Given the description of an element on the screen output the (x, y) to click on. 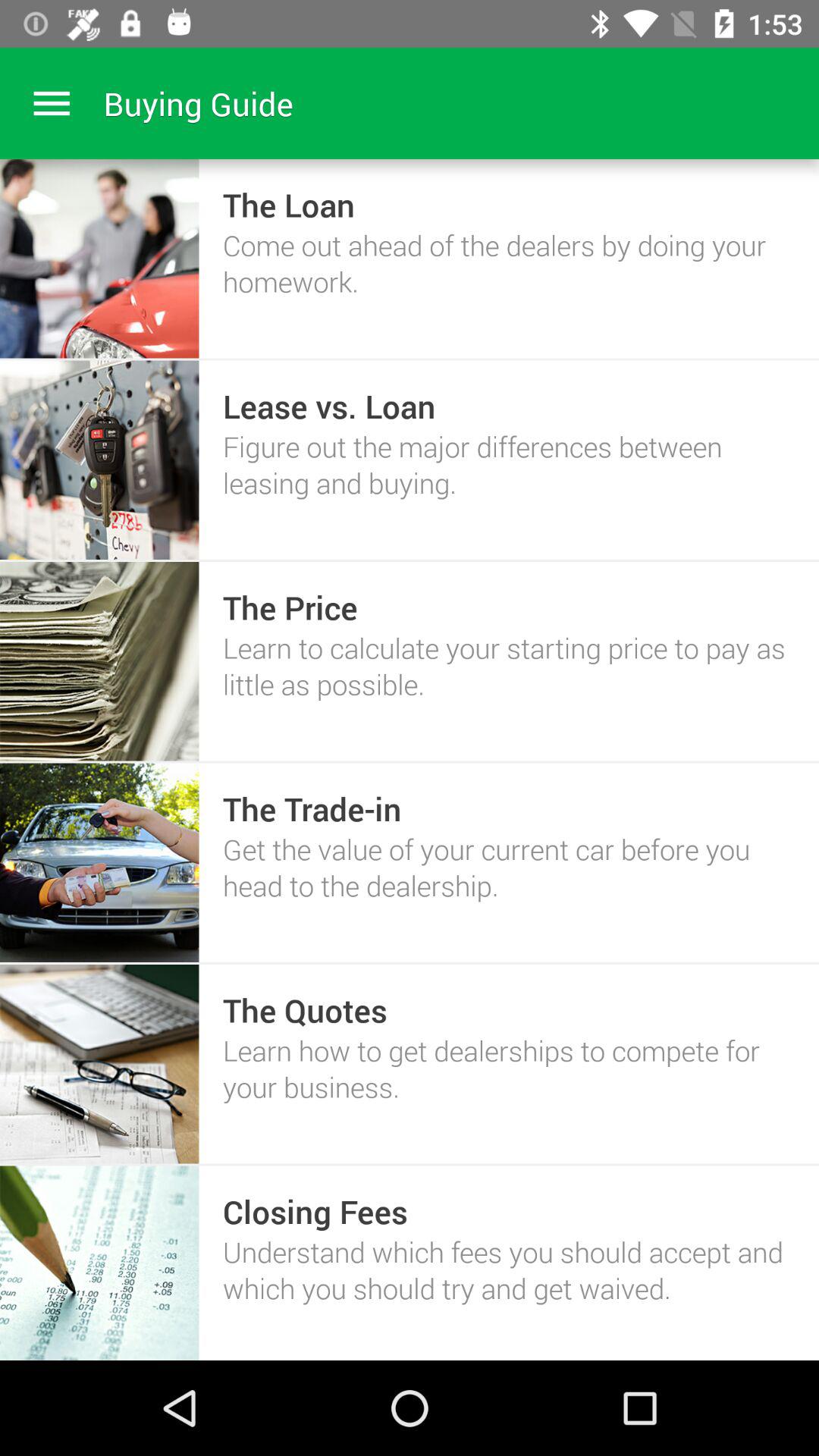
click icon below the learn to calculate item (311, 808)
